Given the description of an element on the screen output the (x, y) to click on. 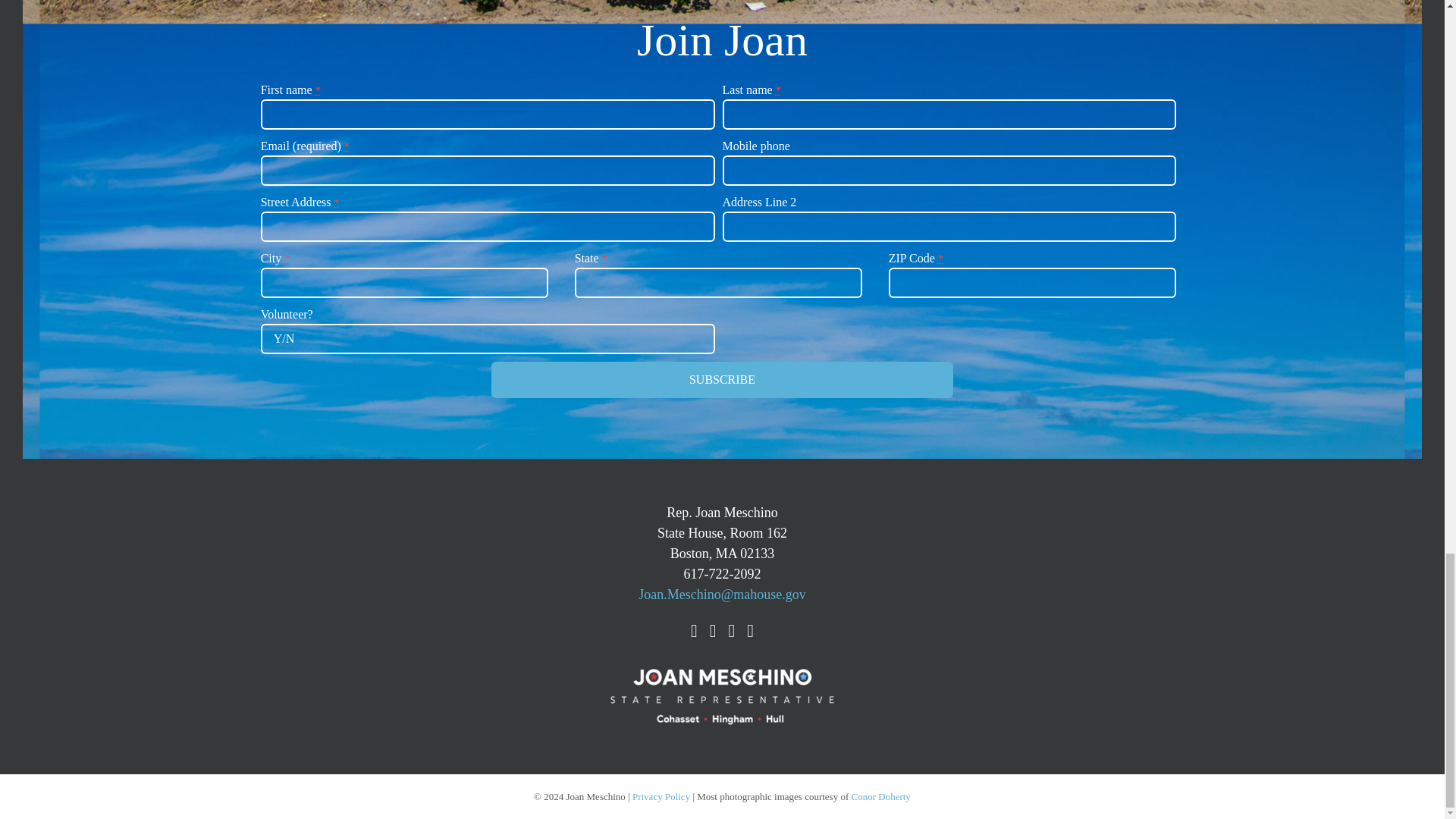
SUBSCRIBE (722, 379)
